Given the description of an element on the screen output the (x, y) to click on. 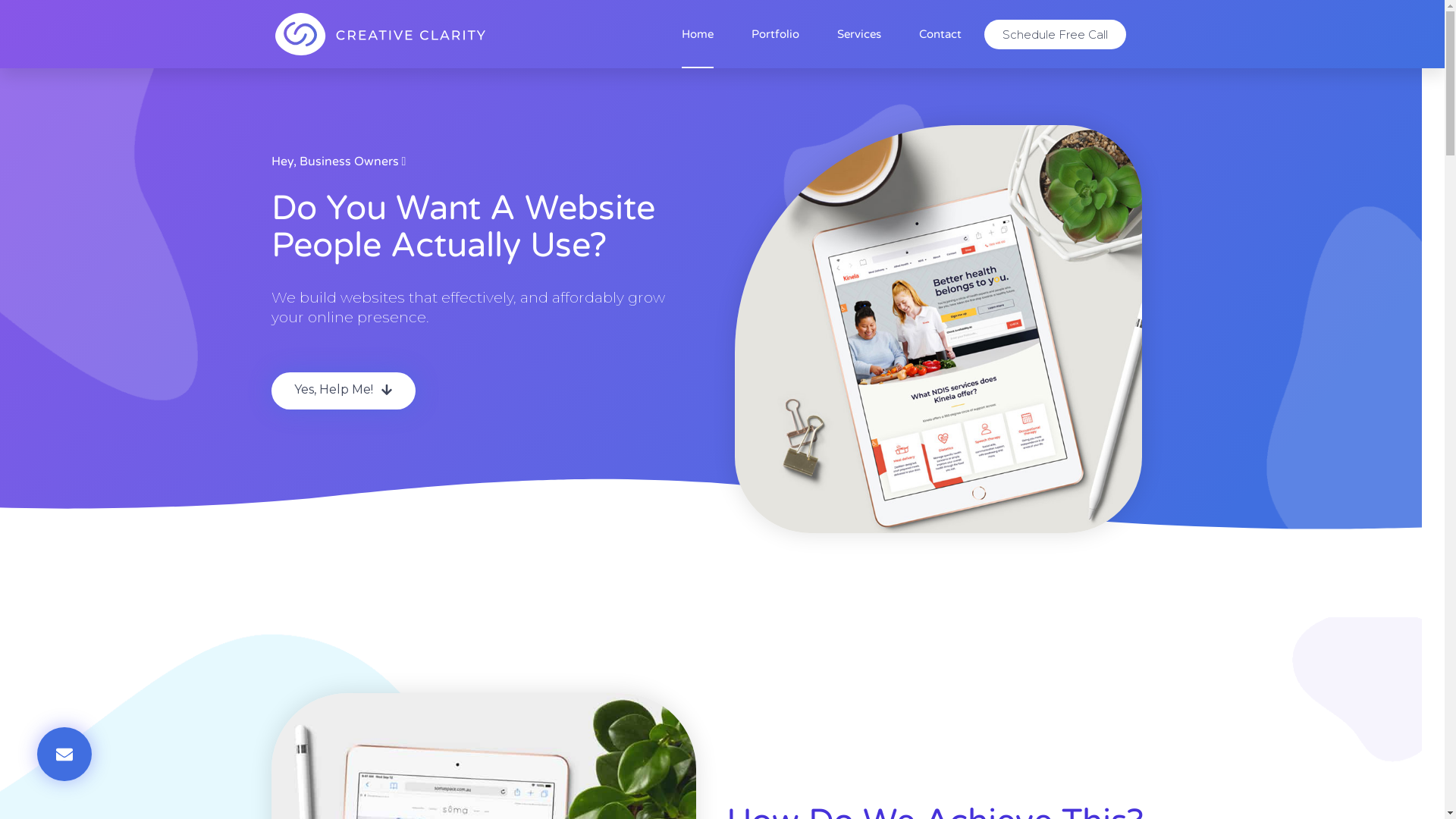
Yes, Help Me! Element type: text (343, 390)
Contact Element type: text (940, 34)
Portfolio Element type: text (775, 34)
Home Element type: text (697, 34)
Services Element type: text (859, 34)
Schedule Free Call Element type: text (1055, 34)
